Given the description of an element on the screen output the (x, y) to click on. 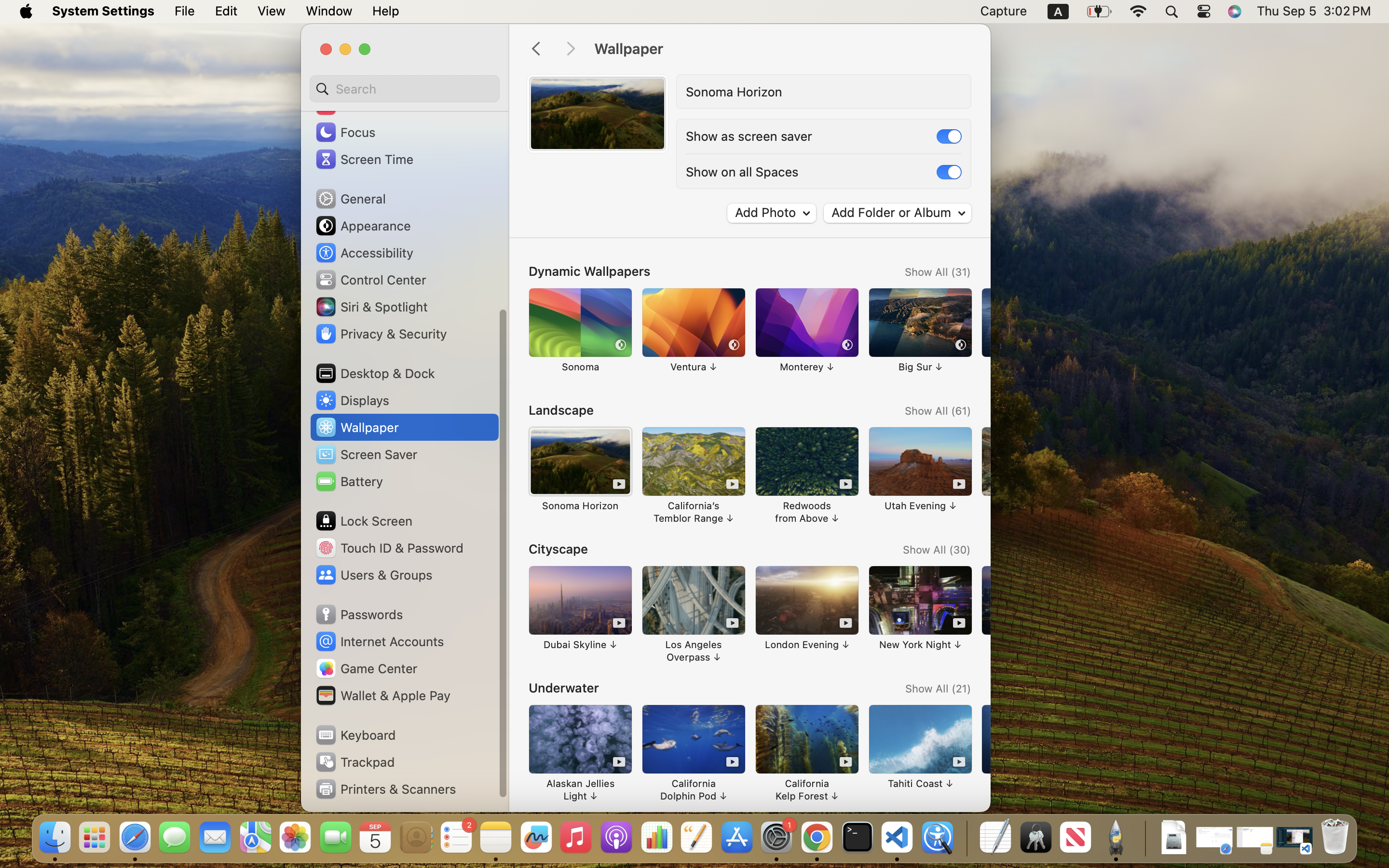
Desktop & Dock Element type: AXStaticText (374, 372)
Landscape Element type: AXStaticText (561, 409)
Screen Saver Element type: AXStaticText (365, 453)
Cityscape Element type: AXStaticText (558, 548)
Sonoma Horizon Element type: AXStaticText (733, 91)
